Given the description of an element on the screen output the (x, y) to click on. 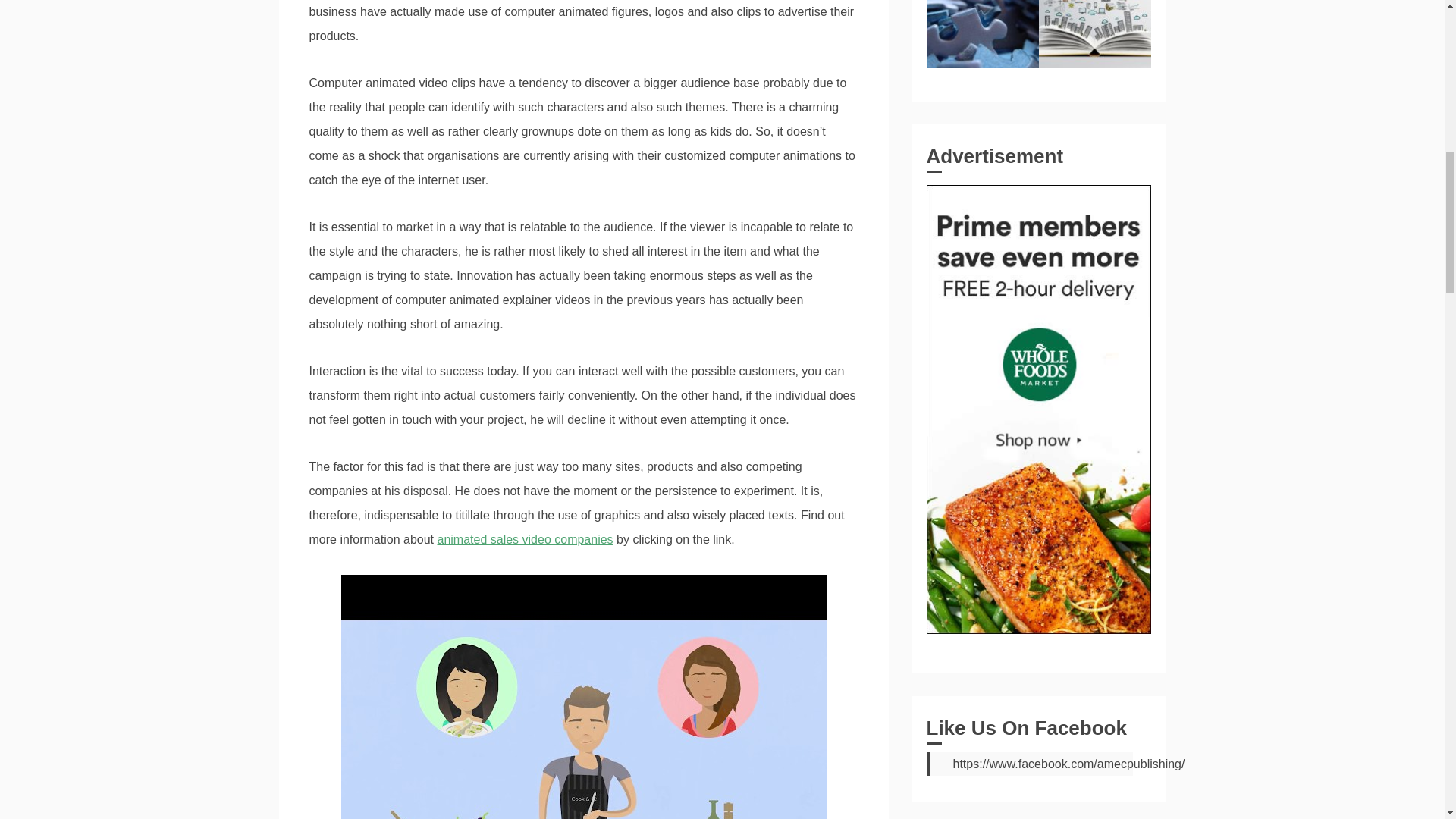
animated sales video companies (524, 539)
